Given the description of an element on the screen output the (x, y) to click on. 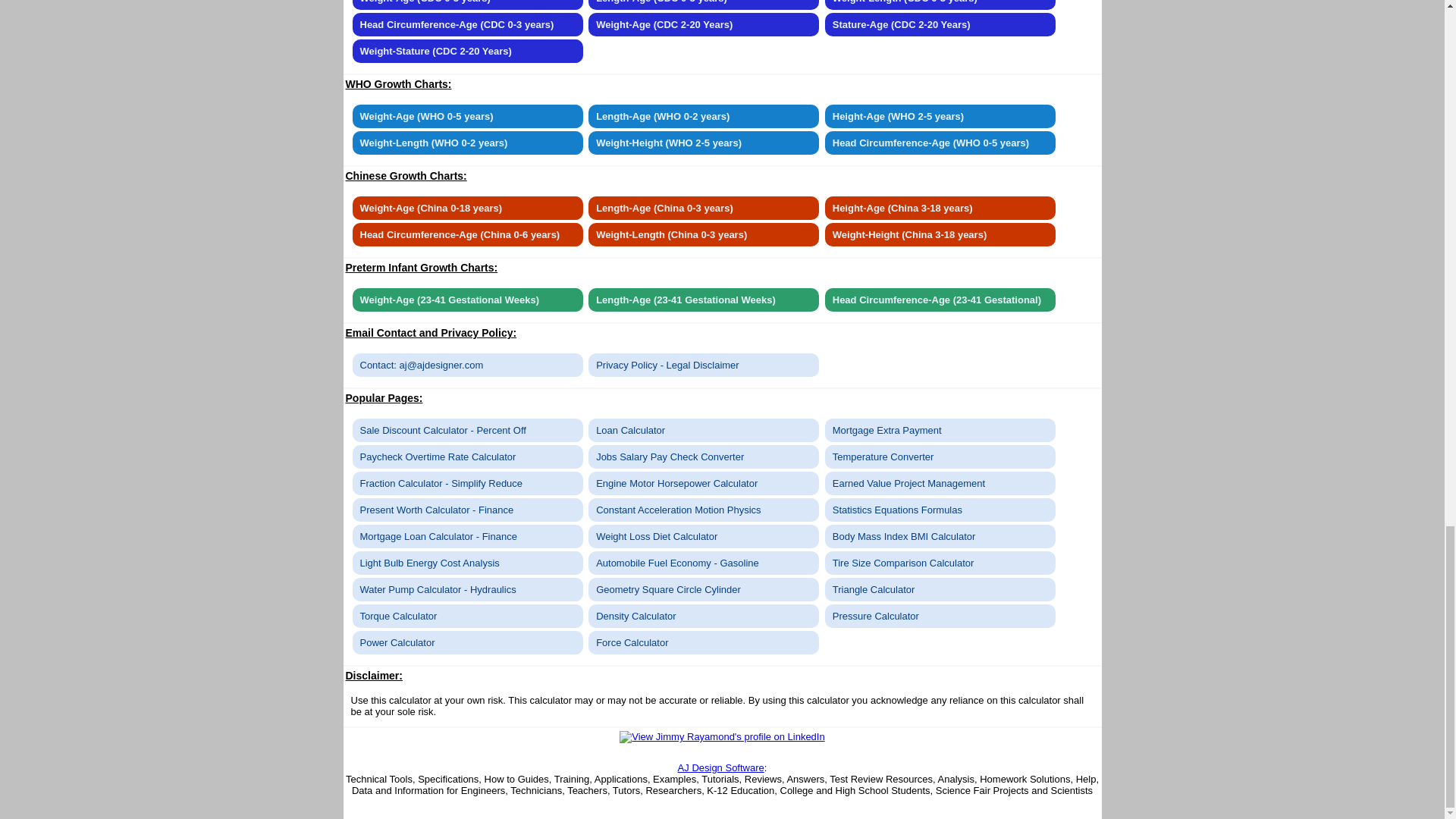
Privacy Policy - Legal Disclaimer (703, 364)
Sale Discount Calculator - Percent Off (467, 430)
Loan Calculator (703, 430)
